Given the description of an element on the screen output the (x, y) to click on. 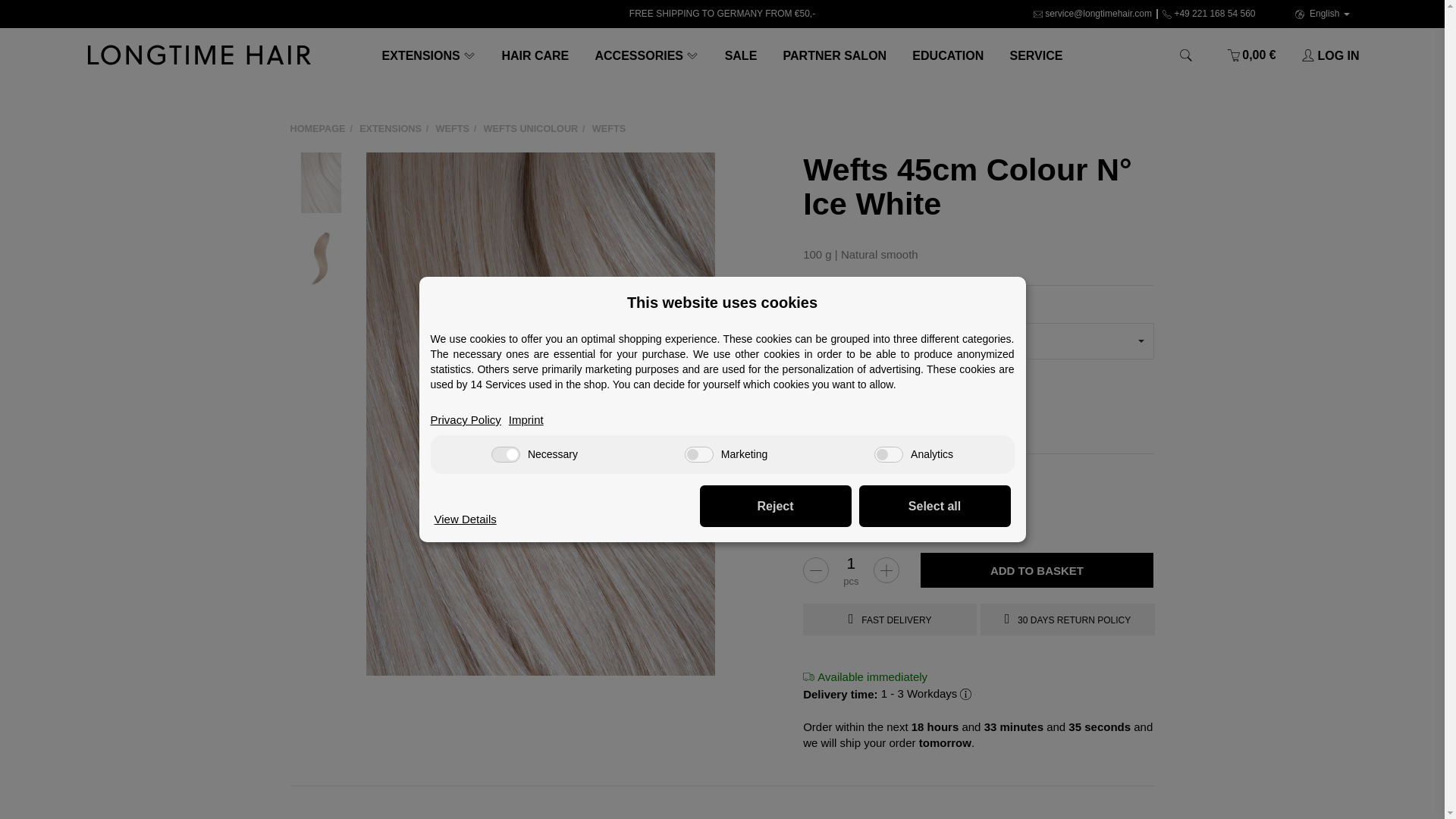
Customer Service (1035, 55)
  English (1321, 13)
1852 (808, 396)
Basket (1251, 55)
1 (850, 563)
Education (947, 55)
Log in (1323, 55)
1831 (874, 396)
on (698, 454)
LONGTIME HAIR (198, 54)
HAIR CARE (533, 55)
ACCESSORIES (645, 55)
on (888, 454)
EXTENSIONS (427, 55)
SALE (740, 55)
